Given the description of an element on the screen output the (x, y) to click on. 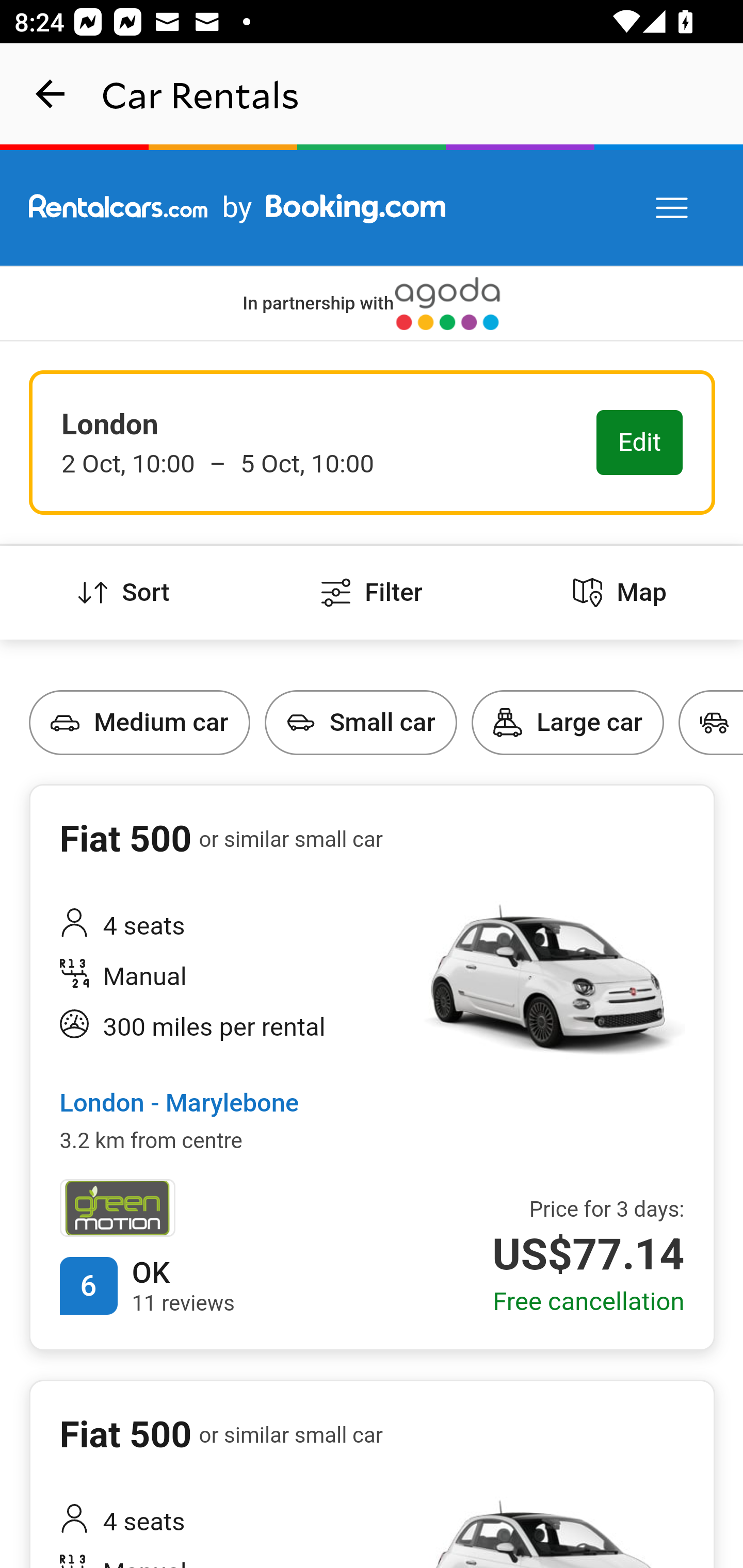
navigation_button (50, 93)
Menu (672, 208)
Edit (639, 443)
Sort (124, 592)
Filter (371, 592)
4 seats (225, 926)
Manual (225, 978)
300 miles per rental (225, 1028)
London - Marylebone (178, 1103)
6 6 OK Customer rating 6 OK 11 reviews (146, 1285)
4 seats (225, 1522)
